Given the description of an element on the screen output the (x, y) to click on. 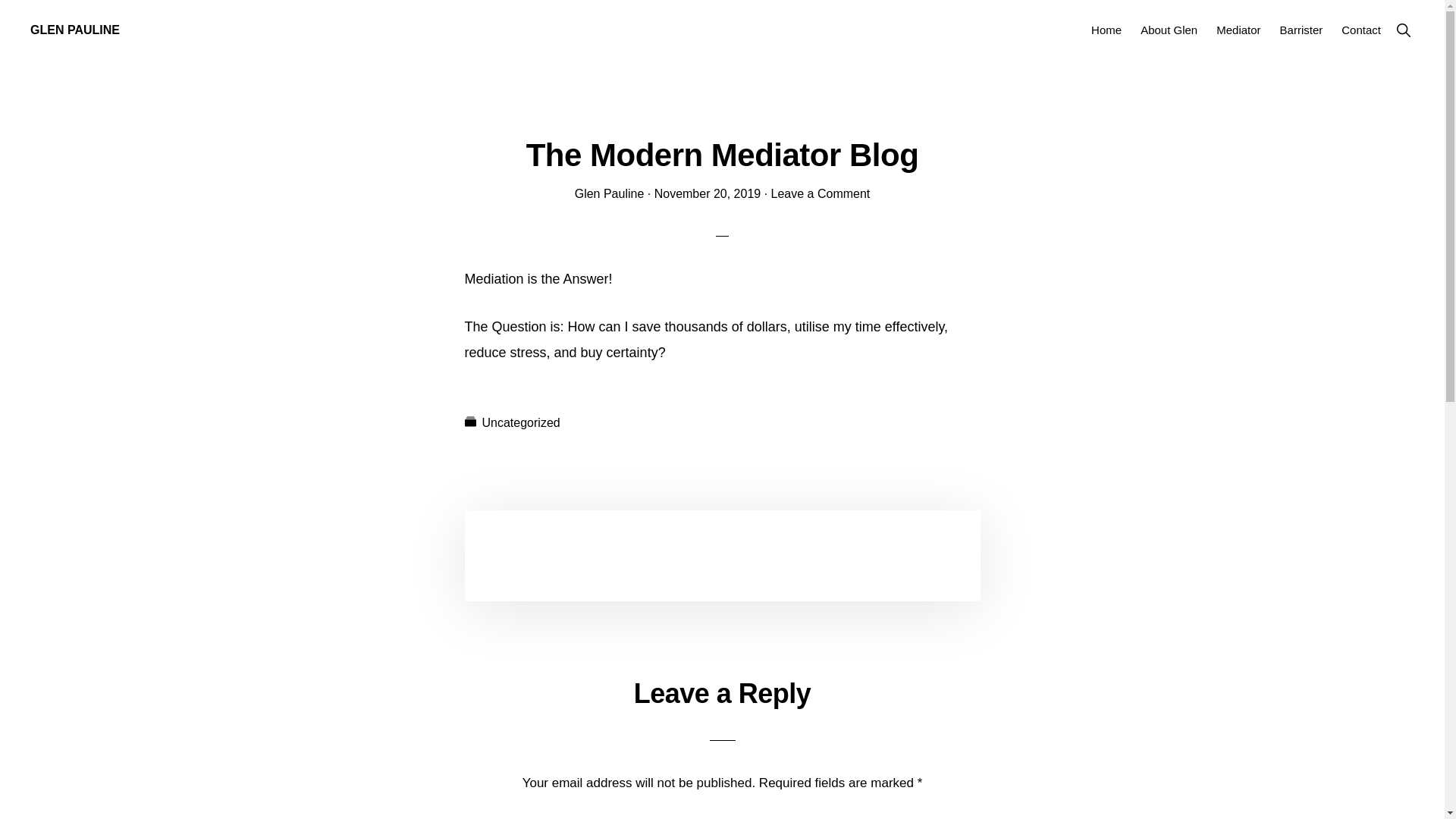
GLEN PAULINE Element type: text (74, 29)
Show Search Element type: text (1403, 29)
Mediator Element type: text (1237, 29)
Glen Pauline Element type: text (609, 193)
Contact Element type: text (1360, 29)
Leave a Comment Element type: text (820, 193)
Uncategorized Element type: text (521, 422)
Skip to primary navigation Element type: text (0, 0)
About Glen Element type: text (1168, 29)
Barrister Element type: text (1301, 29)
Home Element type: text (1106, 29)
